Given the description of an element on the screen output the (x, y) to click on. 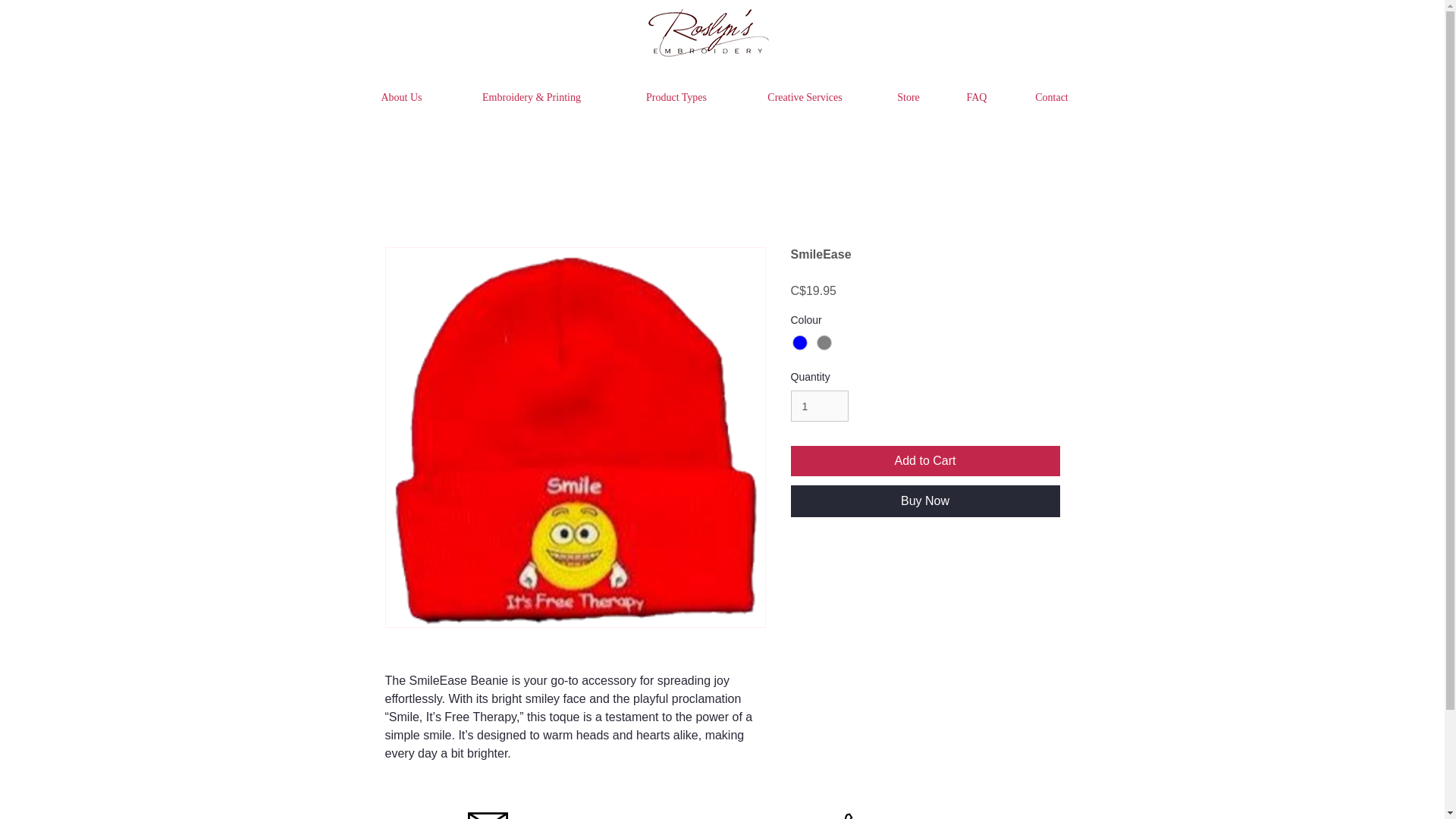
FAQ (976, 90)
Store (908, 90)
Add to Cart (924, 460)
Buy Now (924, 500)
Creative Services (804, 90)
Product Types (675, 90)
About Us (401, 90)
1 (818, 405)
Contact (1052, 90)
